Given the description of an element on the screen output the (x, y) to click on. 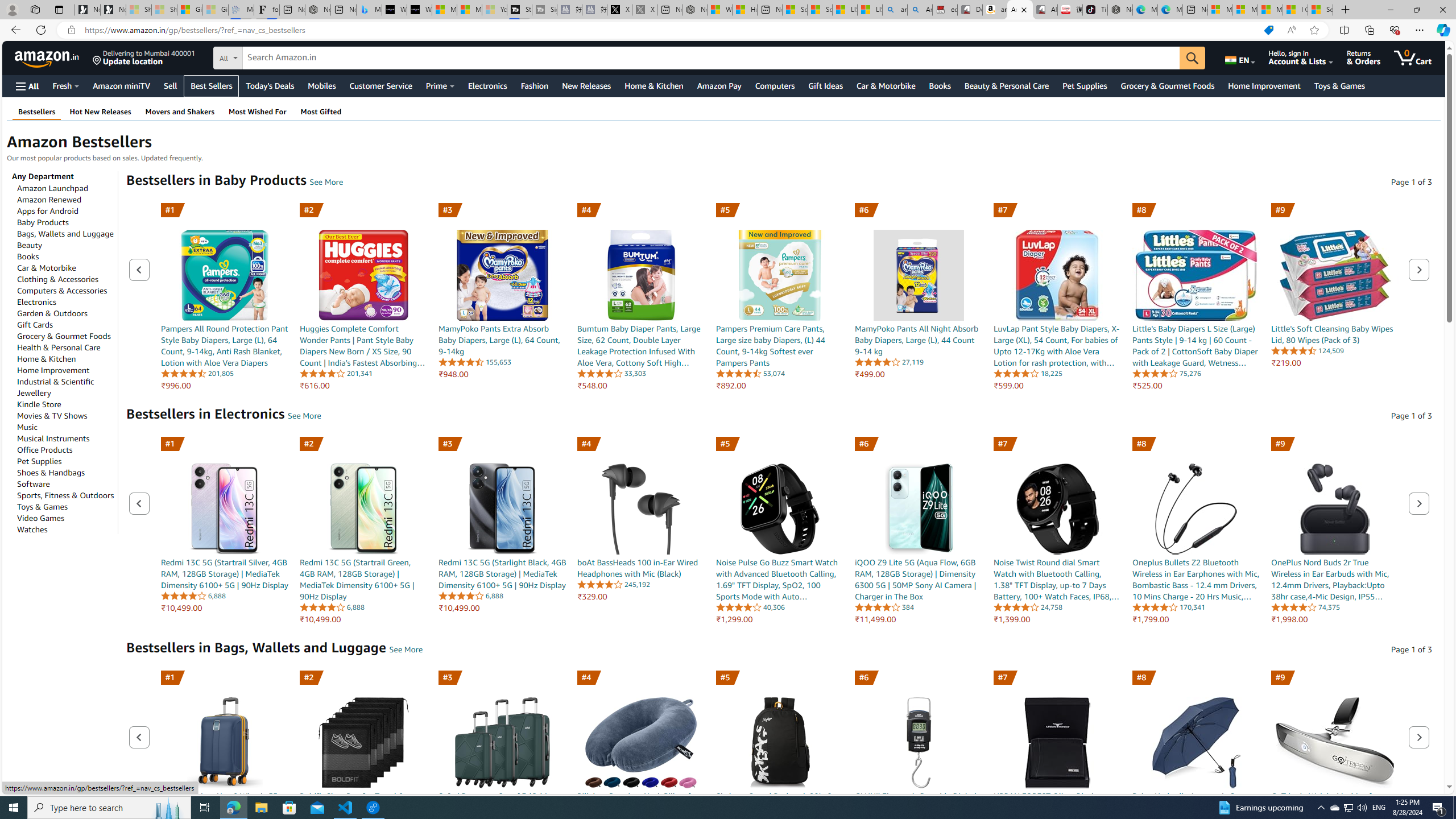
Go (1192, 57)
Computers & Accessories (62, 290)
Fresh (65, 85)
Movers and Shakers (179, 111)
Video Games (41, 517)
Search Amazon.in (711, 57)
